Given the description of an element on the screen output the (x, y) to click on. 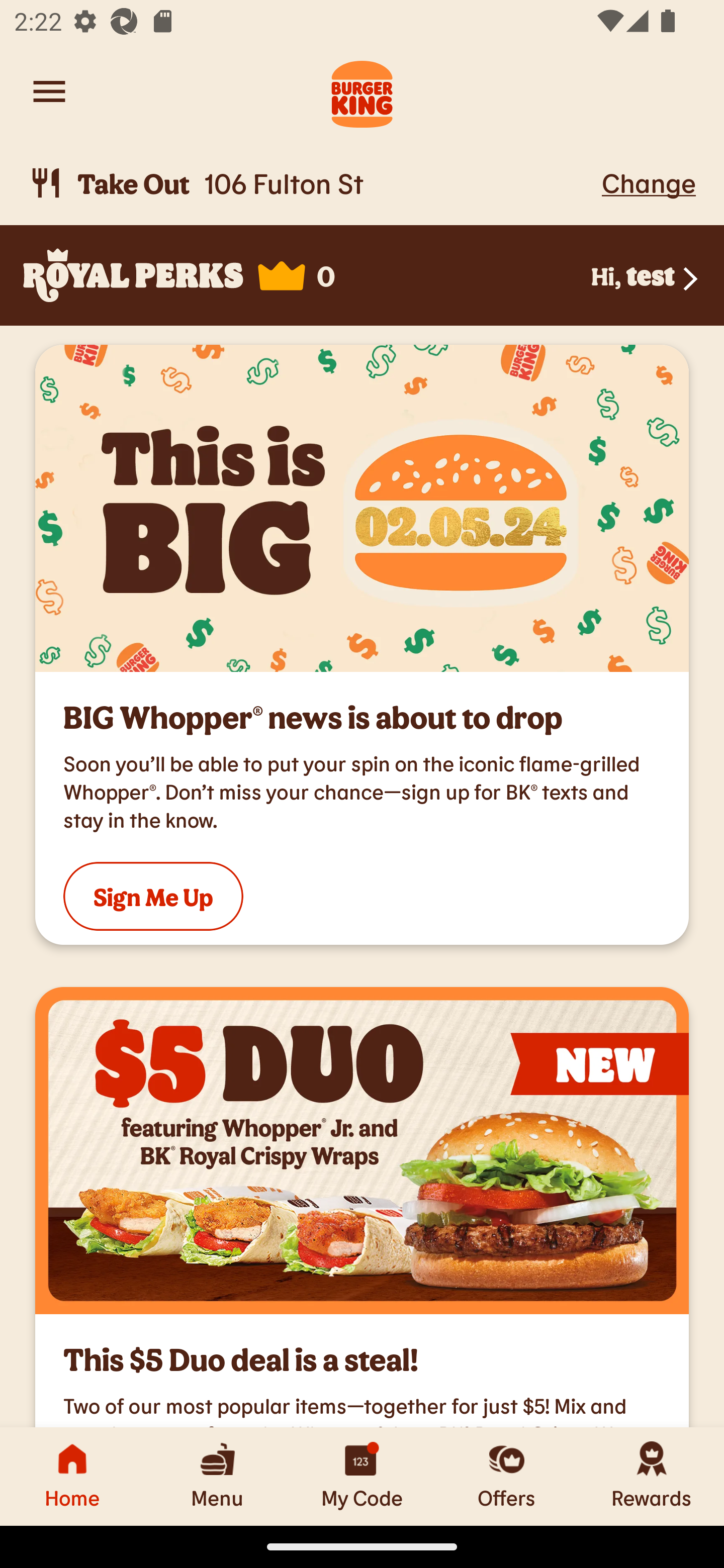
Burger King Logo. Navigate to Home (362, 91)
Navigate to account menu  (49, 91)
Take Out, 106 Fulton St  Take Out 106 Fulton St (311, 183)
Change (648, 182)
MDW Teaser Auth App (361, 508)
Sign Me Up (153, 896)
$5 Duo ft. Wraps  (361, 1149)
Home (72, 1475)
Menu (216, 1475)
My Code (361, 1475)
Offers (506, 1475)
Rewards (651, 1475)
